Given the description of an element on the screen output the (x, y) to click on. 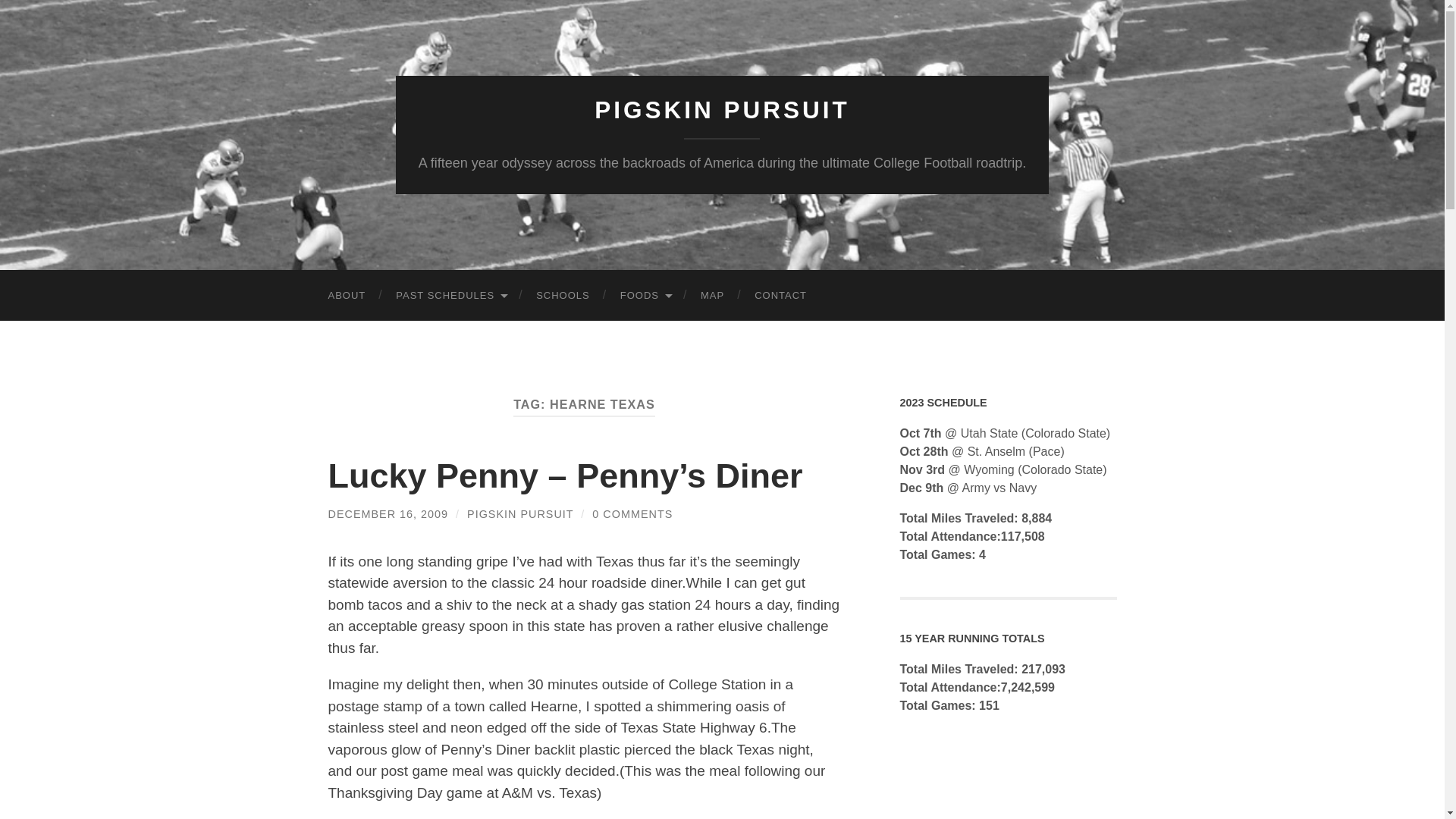
ABOUT (346, 295)
PAST SCHEDULES (450, 295)
PIGSKIN PURSUIT (722, 109)
FOODS (645, 295)
SCHOOLS (563, 295)
MAP (712, 295)
CONTACT (780, 295)
Posts by Pigskin Pursuit (520, 513)
